Given the description of an element on the screen output the (x, y) to click on. 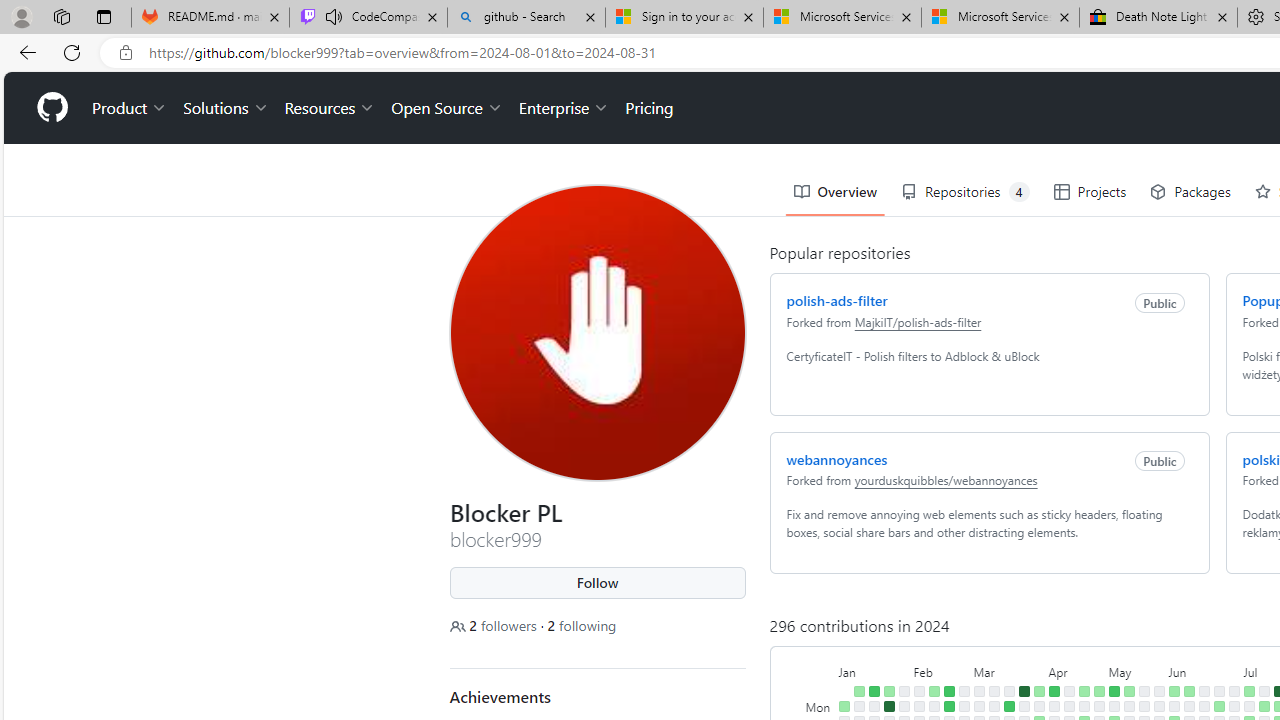
June (1203, 670)
No contributions on March 25th. (1023, 706)
@blocker999 (465, 95)
No contributions on February 4th. (918, 691)
1 contribution on February 11th. (933, 691)
No contributions on July 8th. (1248, 706)
23 contributions on January 22nd. (888, 706)
1 contribution on July 7th. (1248, 691)
No contributions on March 3rd. (978, 691)
Packages (1190, 192)
No contributions on May 6th. (1114, 706)
No contributions on June 30th. (1233, 691)
Product (130, 107)
No contributions on April 14th. (1068, 691)
